Given the description of an element on the screen output the (x, y) to click on. 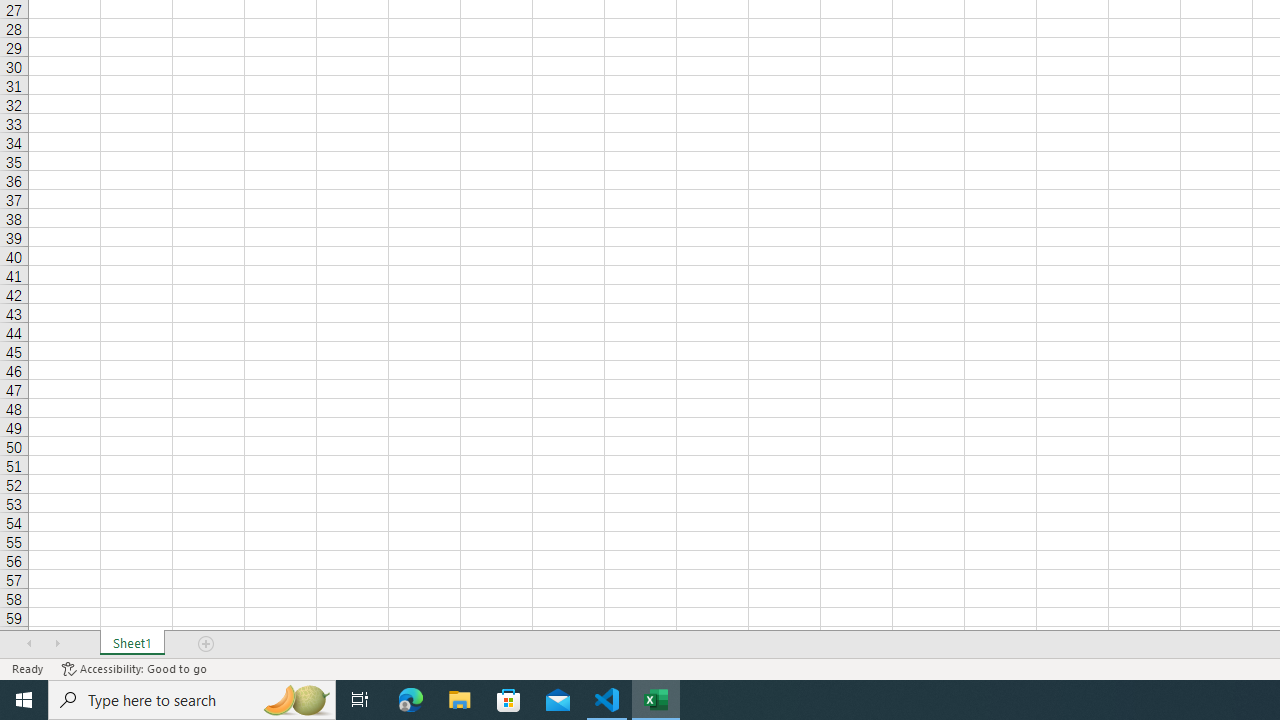
Add Sheet (207, 644)
Sheet1 (132, 644)
Scroll Right (57, 644)
Scroll Left (29, 644)
Accessibility Checker Accessibility: Good to go (134, 668)
